Given the description of an element on the screen output the (x, y) to click on. 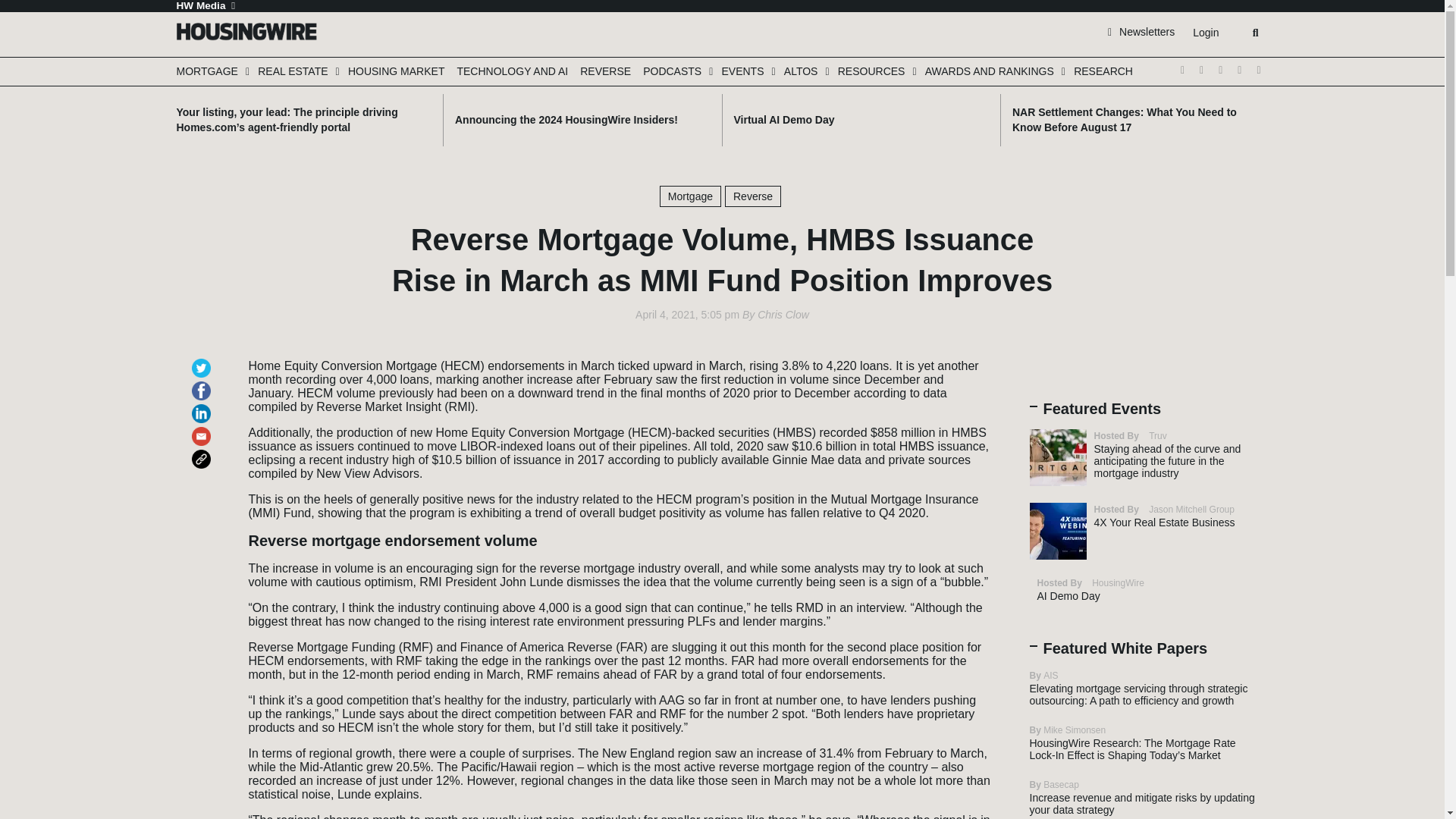
Click to share on LinkedIn (203, 406)
Click to email a link to a friend (203, 429)
Click to share on Twitter (203, 360)
Click to copy link (203, 452)
Newsletters (1141, 31)
Click to share on Facebook (203, 383)
Posts by Chris Clow (783, 314)
Login (1205, 32)
